Given the description of an element on the screen output the (x, y) to click on. 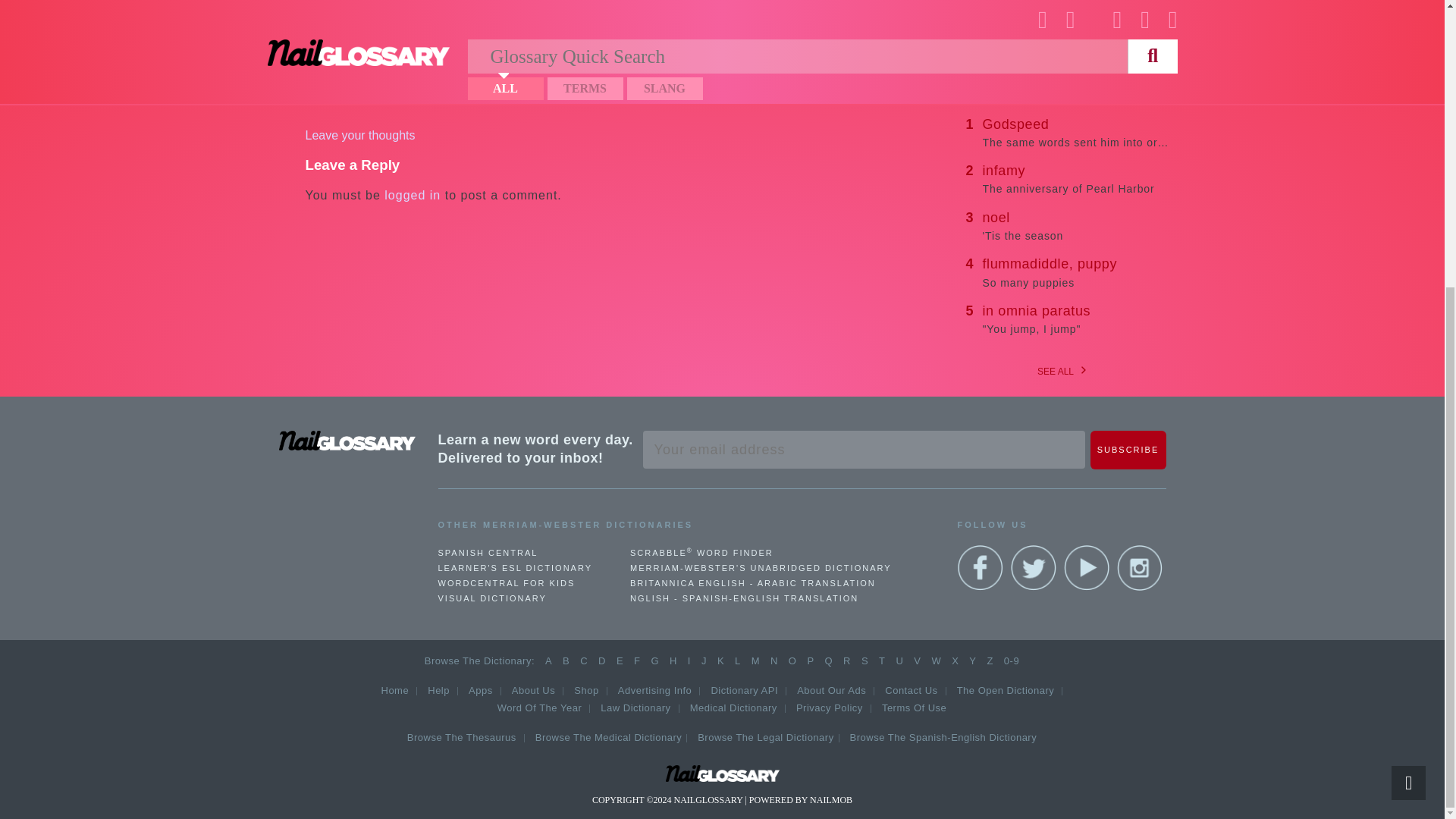
Nail Glossary by NailMOB (721, 773)
SUBSCRIBE (1128, 449)
NAILGLOSSARY TRENDING (1063, 88)
logged in (1077, 132)
Nail Glossary by NailMOB (412, 195)
Leave your thoughts (346, 440)
Back to Top (1077, 178)
